Given the description of an element on the screen output the (x, y) to click on. 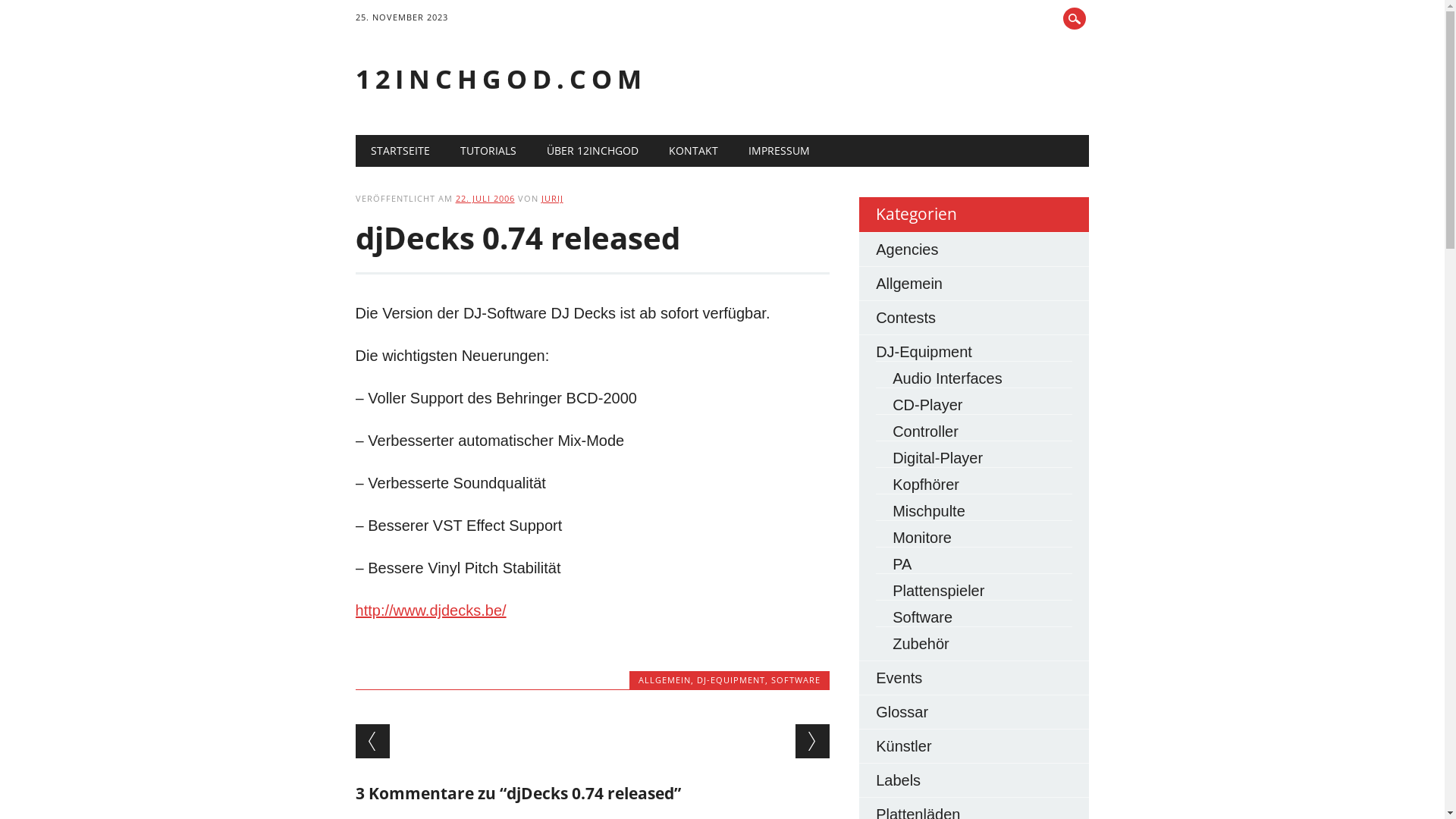
SOFTWARE Element type: text (795, 679)
ALLGEMEIN Element type: text (664, 679)
JURIJ Element type: text (552, 197)
KONTAKT Element type: text (693, 150)
Agencies Element type: text (906, 249)
Labels Element type: text (897, 779)
Controller Element type: text (925, 431)
TUTORIALS Element type: text (488, 150)
Glossar Element type: text (901, 711)
Monitore Element type: text (921, 537)
Software Element type: text (922, 616)
12INCHGOD.COM Element type: text (500, 78)
Plattenspieler Element type: text (938, 590)
Contests Element type: text (905, 317)
IMPRESSUM Element type: text (779, 150)
Mischpulte Element type: text (928, 510)
Allgemein Element type: text (908, 283)
CD-Player Element type: text (927, 404)
22. JULI 2006 Element type: text (484, 197)
DJ-Equipment Element type: text (923, 351)
Events Element type: text (898, 677)
PA Element type: text (901, 563)
Digital-Player Element type: text (937, 457)
http://www.djdecks.be/ Element type: text (430, 610)
Audio Interfaces Element type: text (947, 378)
STARTSEITE Element type: text (400, 150)
DJ-EQUIPMENT Element type: text (730, 679)
